Given the description of an element on the screen output the (x, y) to click on. 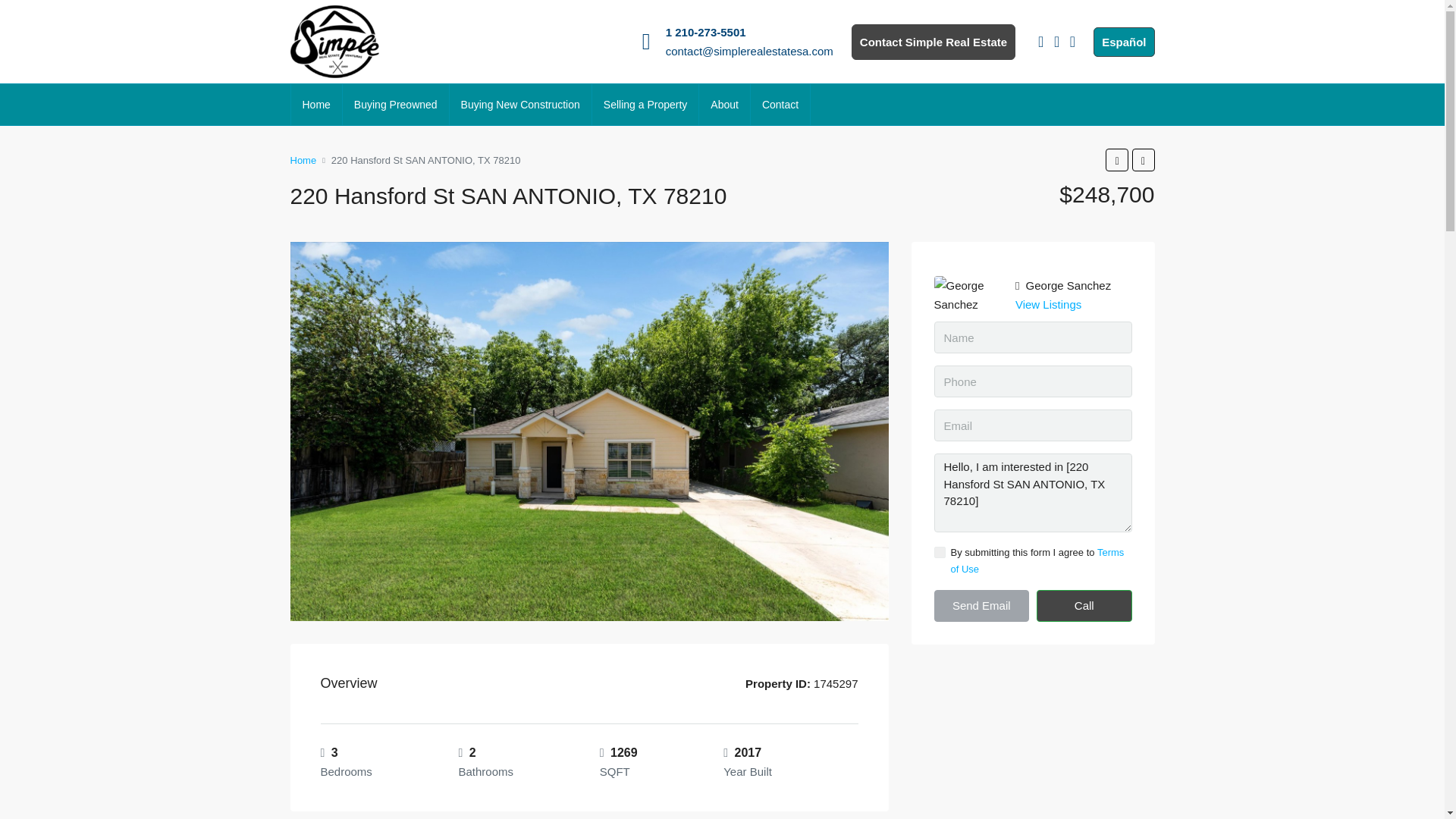
Selling a Property (645, 104)
1 210-273-5501 (705, 31)
About (723, 104)
Buying Preowned (395, 104)
Home (316, 104)
Contact (780, 104)
Home (302, 158)
Buying New Construction (520, 104)
Contact Simple Real Estate (932, 41)
